Given the description of an element on the screen output the (x, y) to click on. 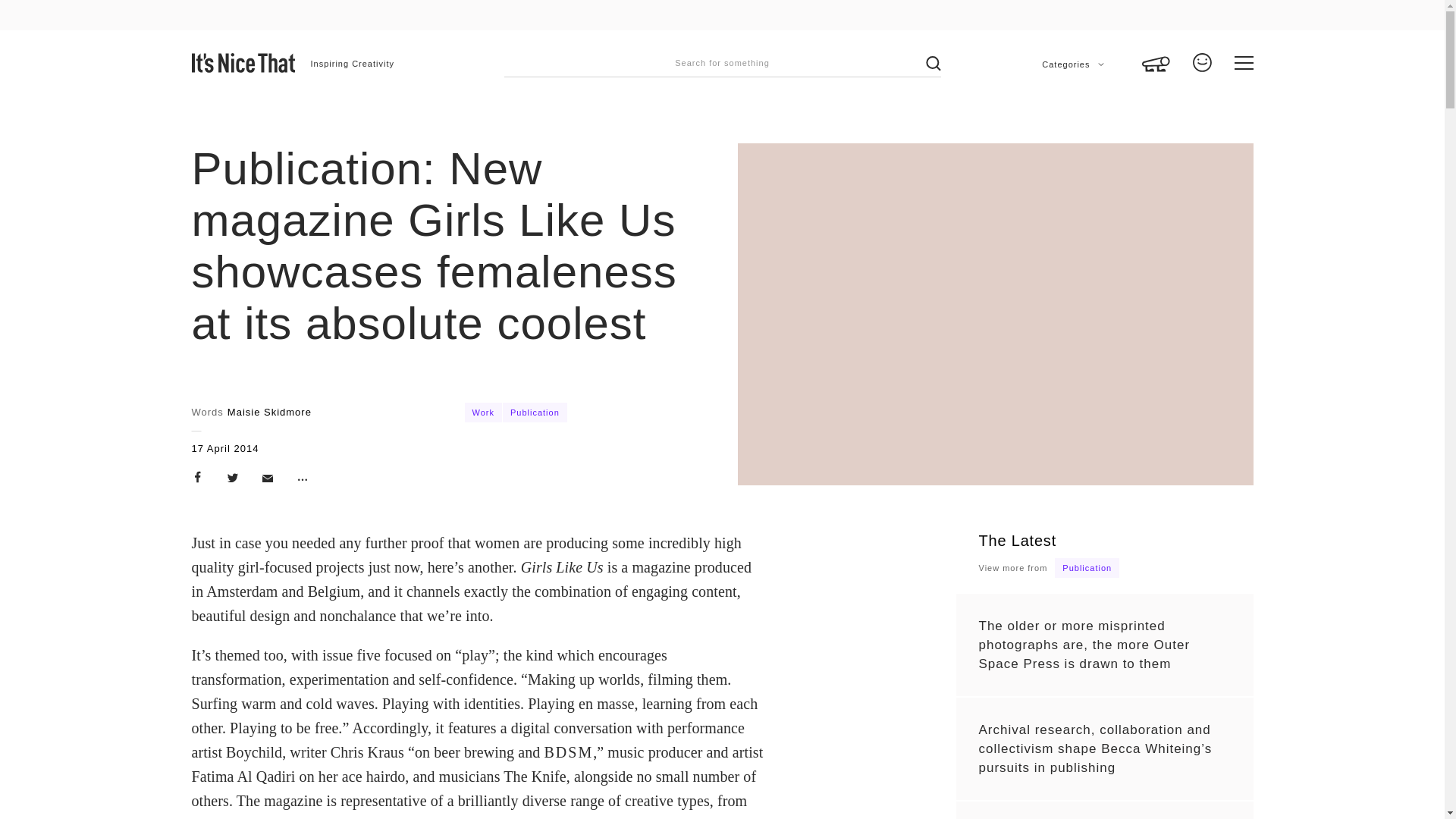
Home (242, 62)
Extra Search Tool (1155, 53)
Extra Nice account (1201, 66)
Your account (1201, 66)
Extra Search Tool (1155, 53)
Categories (1072, 63)
Inspiring Creativity (352, 64)
Menu (1243, 63)
